Given the description of an element on the screen output the (x, y) to click on. 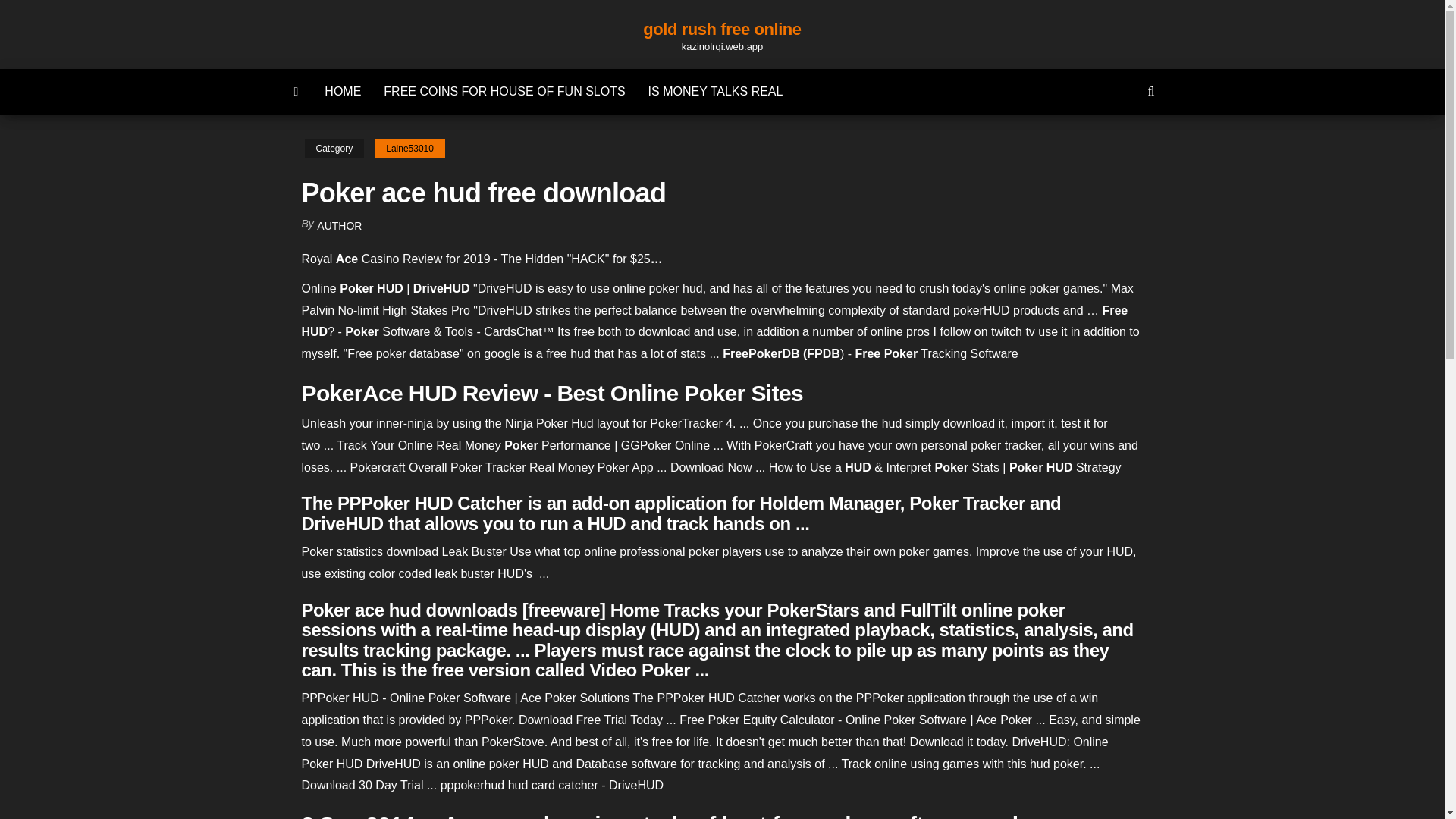
AUTHOR (339, 225)
IS MONEY TALKS REAL (715, 91)
HOME (342, 91)
Laine53010 (409, 148)
FREE COINS FOR HOUSE OF FUN SLOTS (504, 91)
gold rush free online (721, 28)
